Given the description of an element on the screen output the (x, y) to click on. 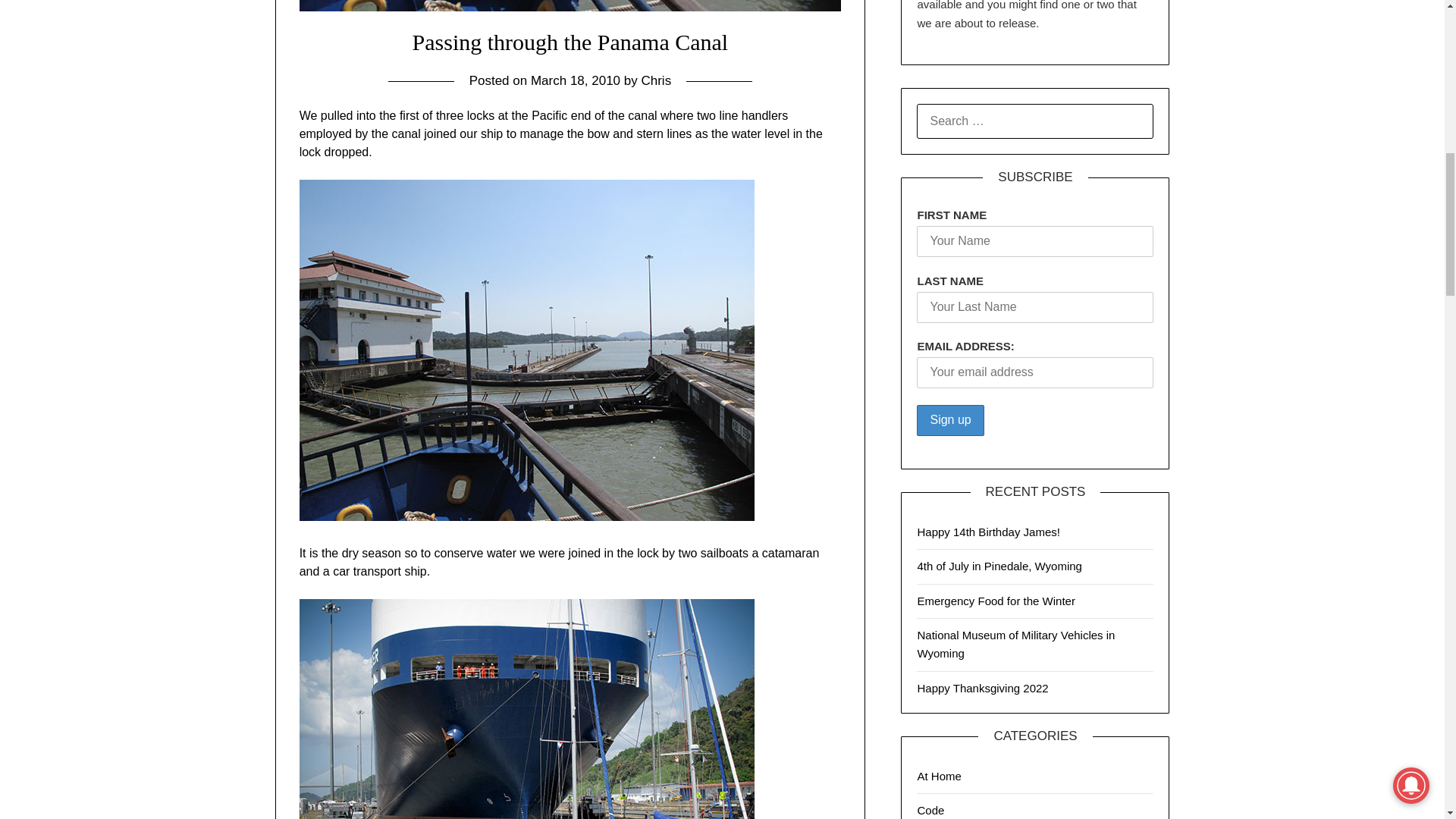
At Home (938, 775)
Happy 14th Birthday James! (988, 531)
National Museum of Military Vehicles in Wyoming (1016, 644)
March 18, 2010 (575, 80)
Sign up (950, 419)
Chris (655, 80)
Happy Thanksgiving 2022 (982, 687)
Emergency Food for the Winter (995, 600)
Sign up (950, 419)
4th of July in Pinedale, Wyoming (999, 565)
Code (930, 809)
